Given the description of an element on the screen output the (x, y) to click on. 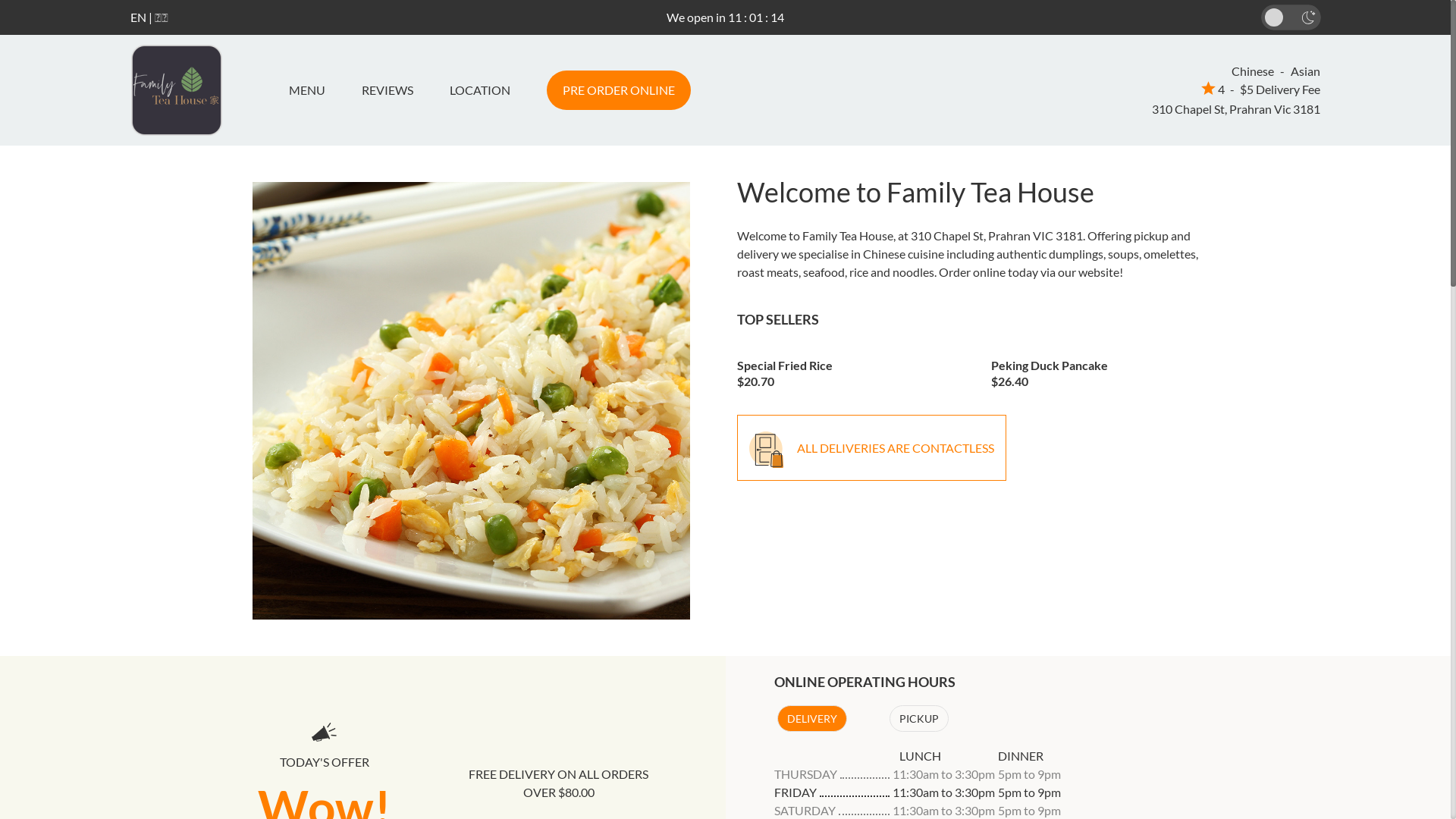
DELIVERY Element type: text (811, 718)
4 Element type: text (1212, 88)
MENU Element type: text (312, 90)
PRE ORDER ONLINE Element type: text (618, 89)
Special Fried Rice
$20.70 Element type: text (853, 368)
EN Element type: text (138, 16)
Peking Duck Pancake
$26.40 Element type: text (1107, 368)
PICKUP Element type: text (917, 718)
LOCATION Element type: text (478, 90)
REVIEWS Element type: text (386, 90)
